Given the description of an element on the screen output the (x, y) to click on. 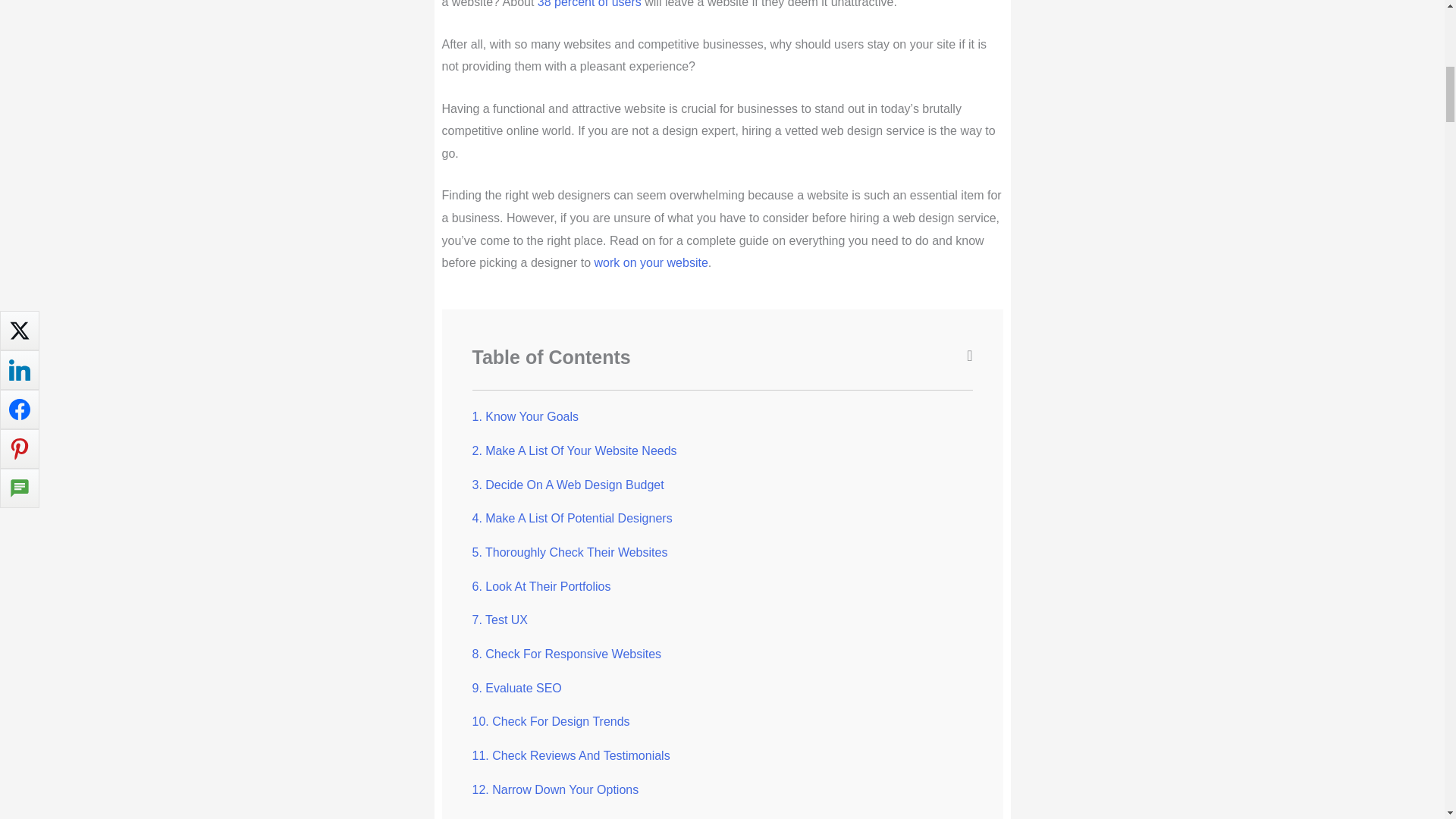
4. Make A List Of Potential Designers (571, 517)
User Experience Statistics (589, 4)
3. Decide On A Web Design Budget (567, 484)
1. Know Your Goals (524, 416)
work on your website (650, 262)
38 percent of users (589, 4)
2. Make A List Of Your Website Needs (574, 450)
